Given the description of an element on the screen output the (x, y) to click on. 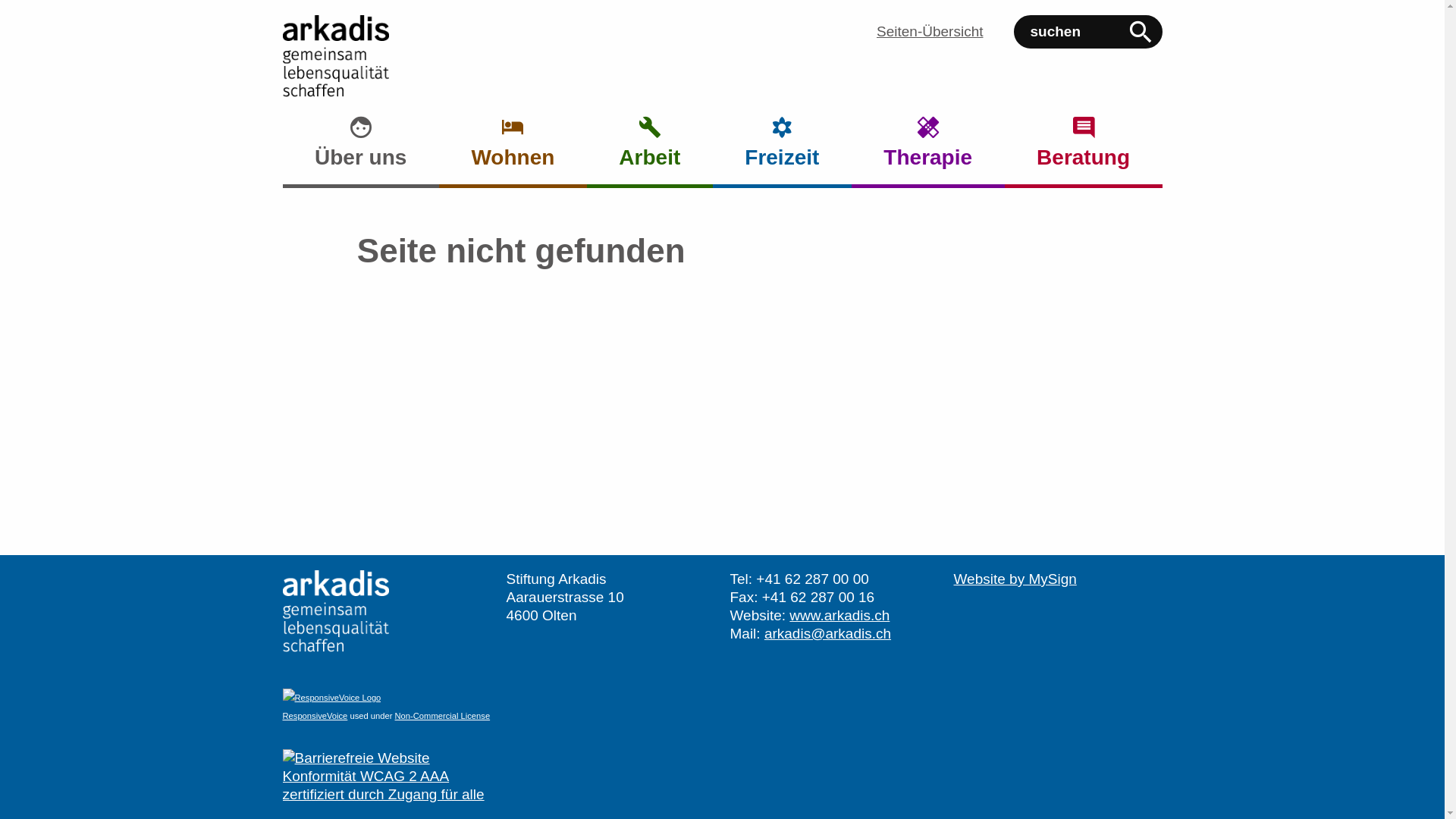
Suche abschicken Element type: hover (1139, 31)
Beratung Element type: text (1083, 152)
Stiftung Arkadis Element type: hover (335, 611)
ResponsiveVoice Text To Speech Element type: hover (331, 697)
Non-Commercial License Element type: text (442, 715)
Freizeit Element type: text (781, 152)
arkadis@arkadis.ch Element type: text (827, 633)
Wohnen Element type: text (512, 152)
Therapie Element type: text (927, 152)
Website by MySign Element type: text (1014, 578)
www.arkadis.ch Element type: text (839, 615)
ResponsiveVoice Element type: text (314, 715)
Arbeit Element type: text (649, 152)
